Given the description of an element on the screen output the (x, y) to click on. 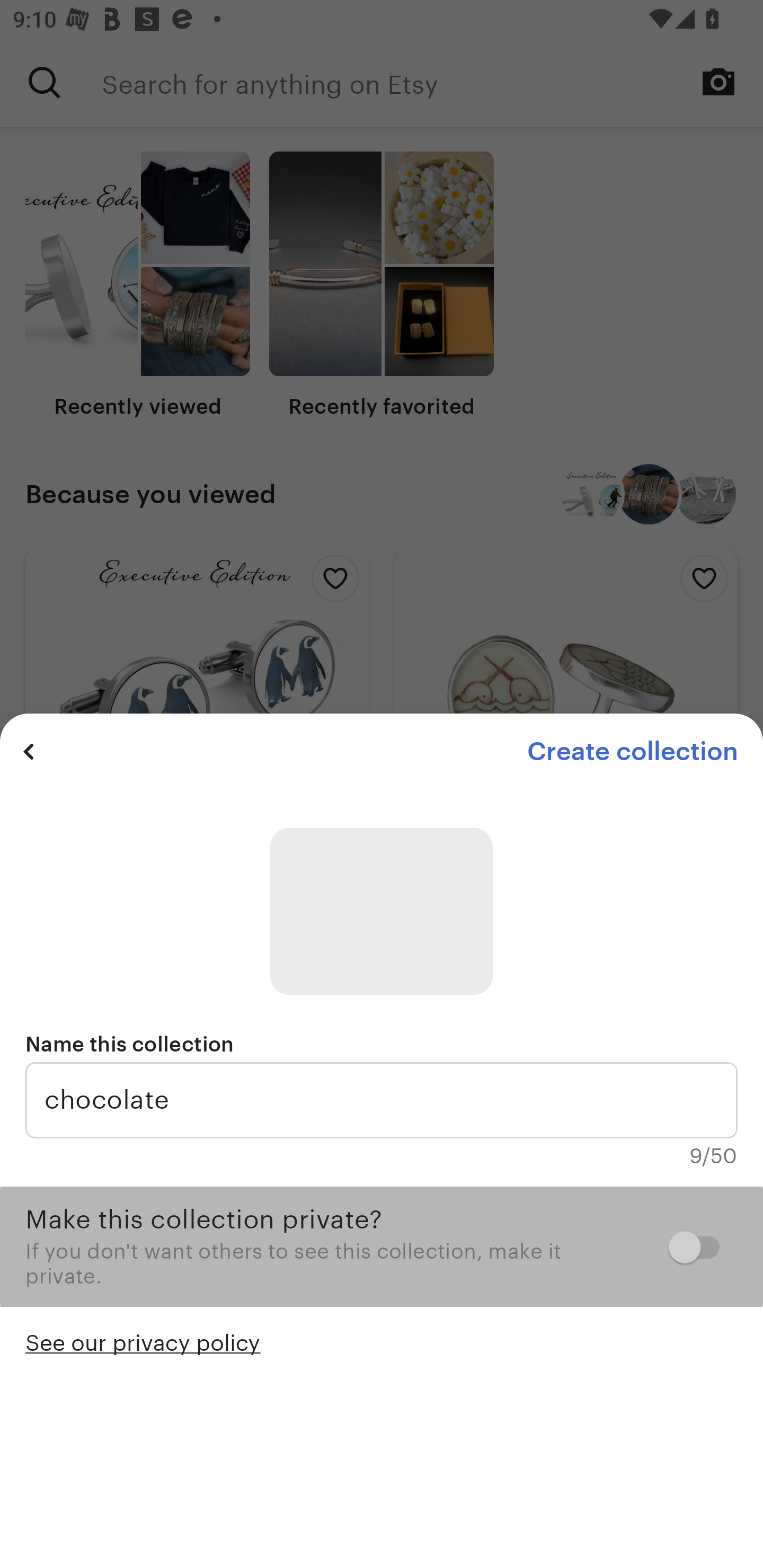
Previous (28, 751)
Create collection (632, 751)
chocolate (381, 1099)
See our privacy policy (142, 1341)
